Given the description of an element on the screen output the (x, y) to click on. 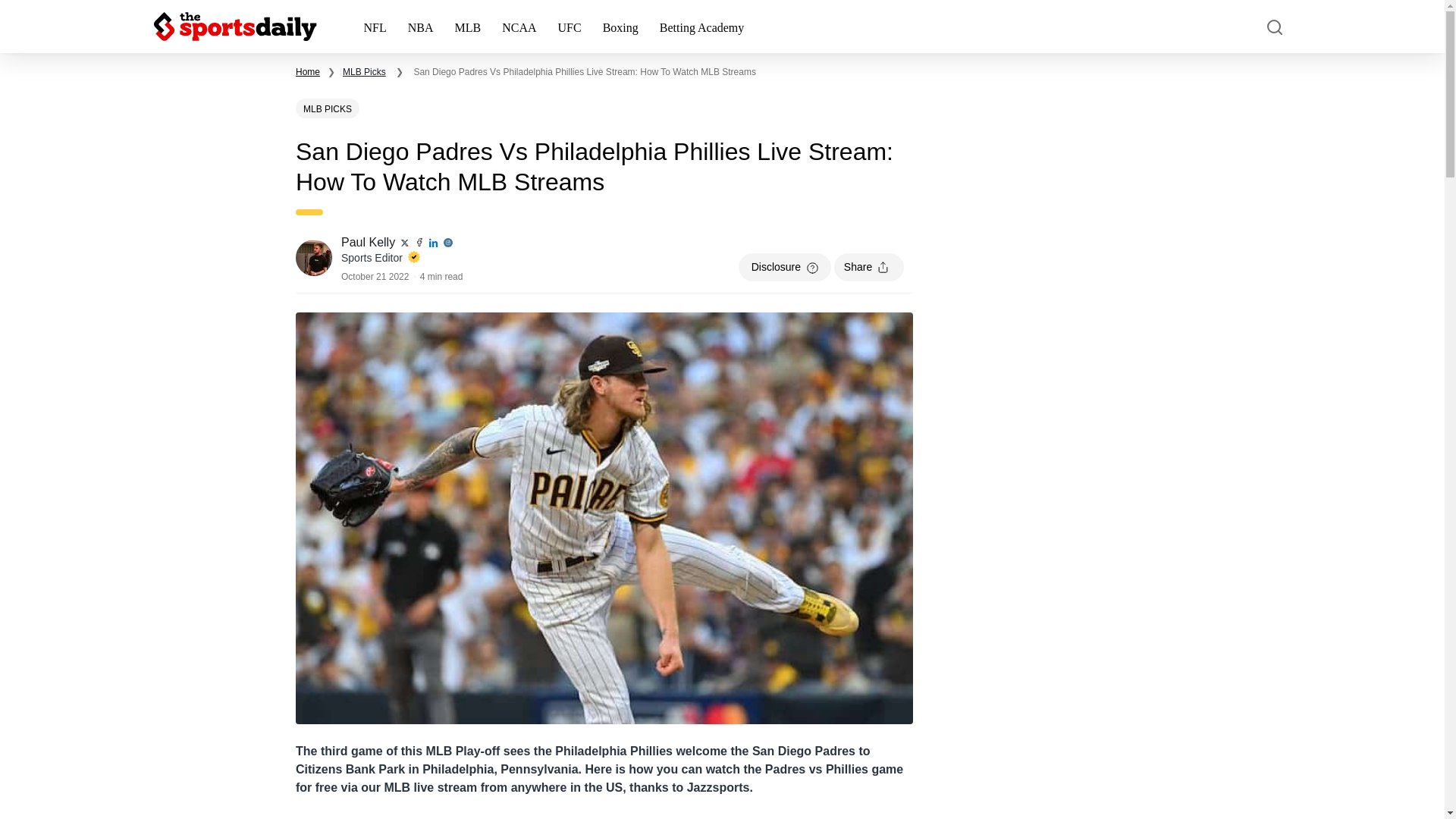
Boxing (620, 26)
MLB Picks (363, 71)
MLB PICKS (327, 107)
MLB (468, 26)
Betting Academy (702, 26)
Paul Kelly (368, 241)
NCAA (519, 26)
Home (307, 71)
Share   (869, 267)
